Given the description of an element on the screen output the (x, y) to click on. 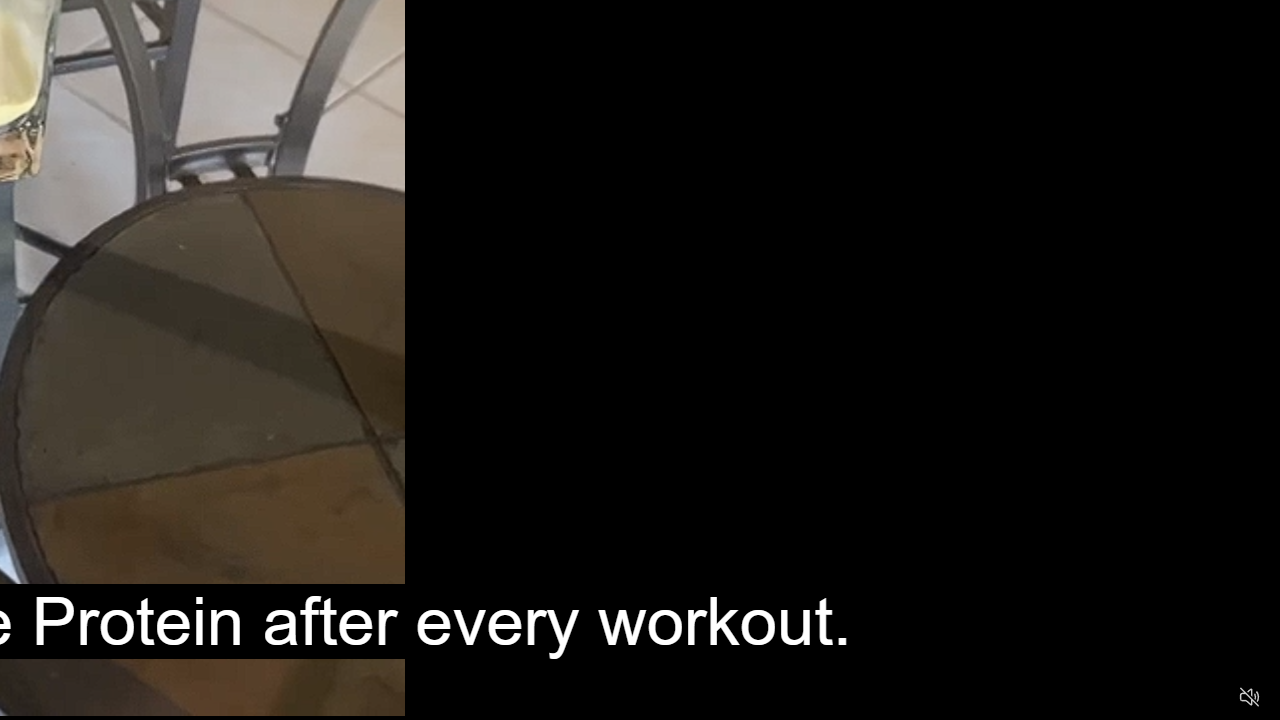
Non-Fullscreen (1211, 697)
Unmute (1249, 696)
Quality Settings (1132, 697)
Captions (1171, 697)
